Given the description of an element on the screen output the (x, y) to click on. 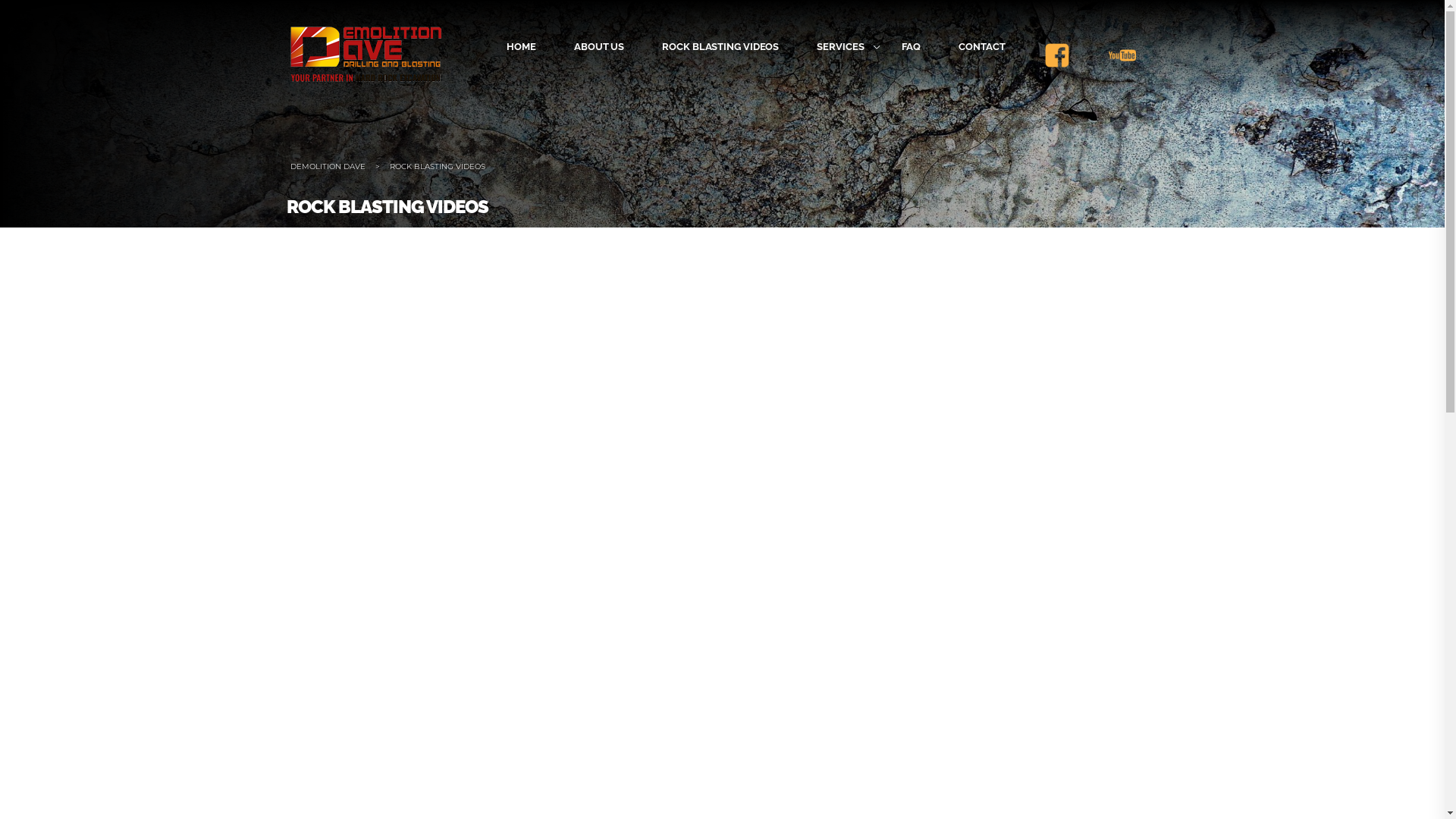
Rock blasting mayhem with Demolition Dave Element type: hover (721, 686)
FAQ Element type: text (910, 46)
SERVICES Element type: text (839, 46)
CONTACT Element type: text (981, 46)
HOME Element type: text (521, 46)
Blasting drainage trenches in Granite, Part 2 Element type: hover (240, 686)
Blasting Very Hard Granite at Bunyip Victoria Element type: hover (240, 401)
Blasting Hard Mudstone at Sedgwick Element type: hover (1203, 401)
ABOUT US Element type: text (599, 46)
Blasting Trenches in Basalt rock Element type: hover (721, 401)
ROCK BLASTING VIDEOS Element type: text (720, 46)
DEMOLITION DAVE Element type: text (326, 166)
